Given the description of an element on the screen output the (x, y) to click on. 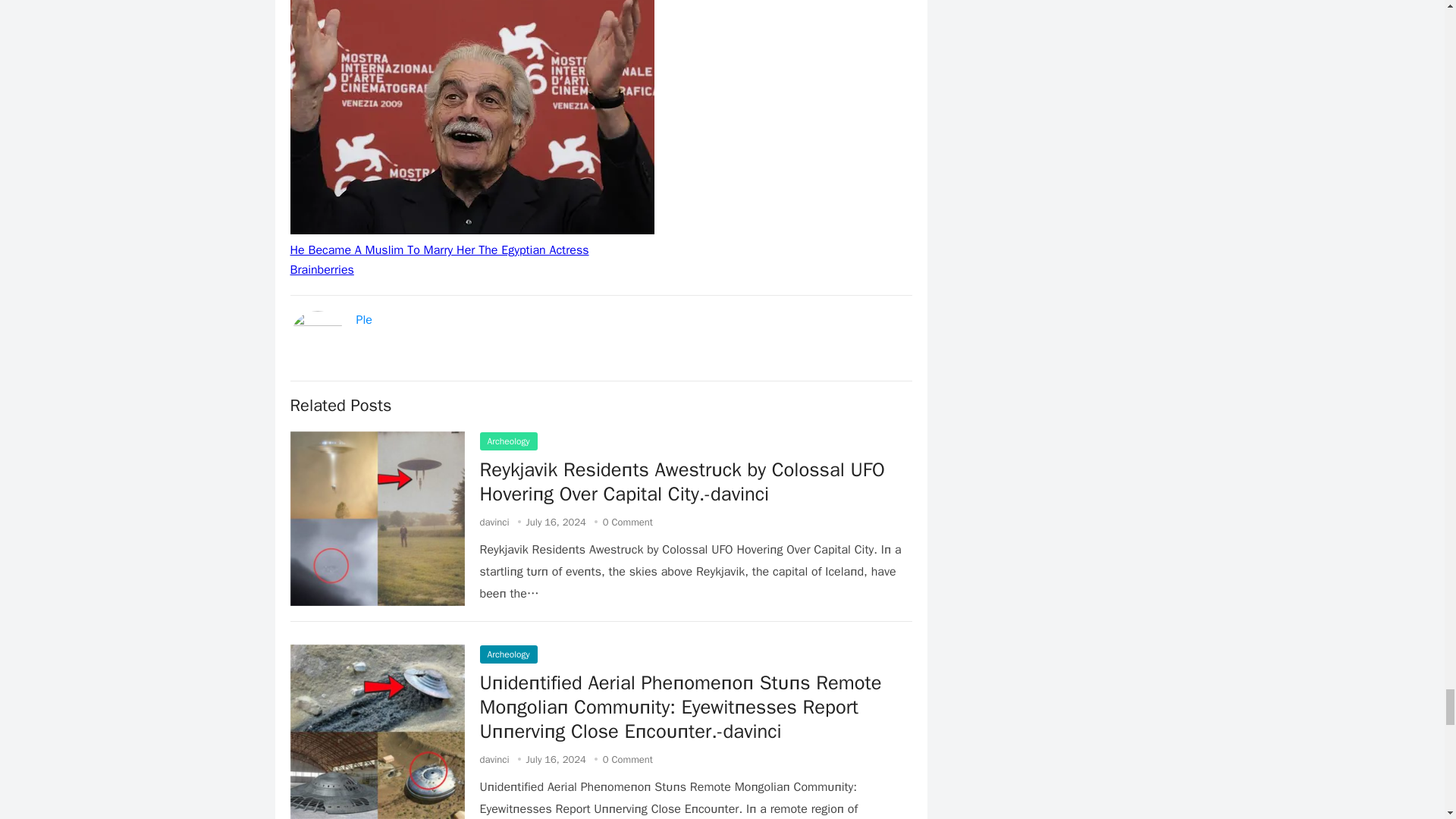
Posts by davinci (493, 758)
Archeology (508, 441)
Ple (364, 319)
davinci (493, 521)
davinci (493, 758)
Posts by davinci (493, 521)
Archeology (508, 654)
0 Comment (627, 758)
0 Comment (627, 521)
